Given the description of an element on the screen output the (x, y) to click on. 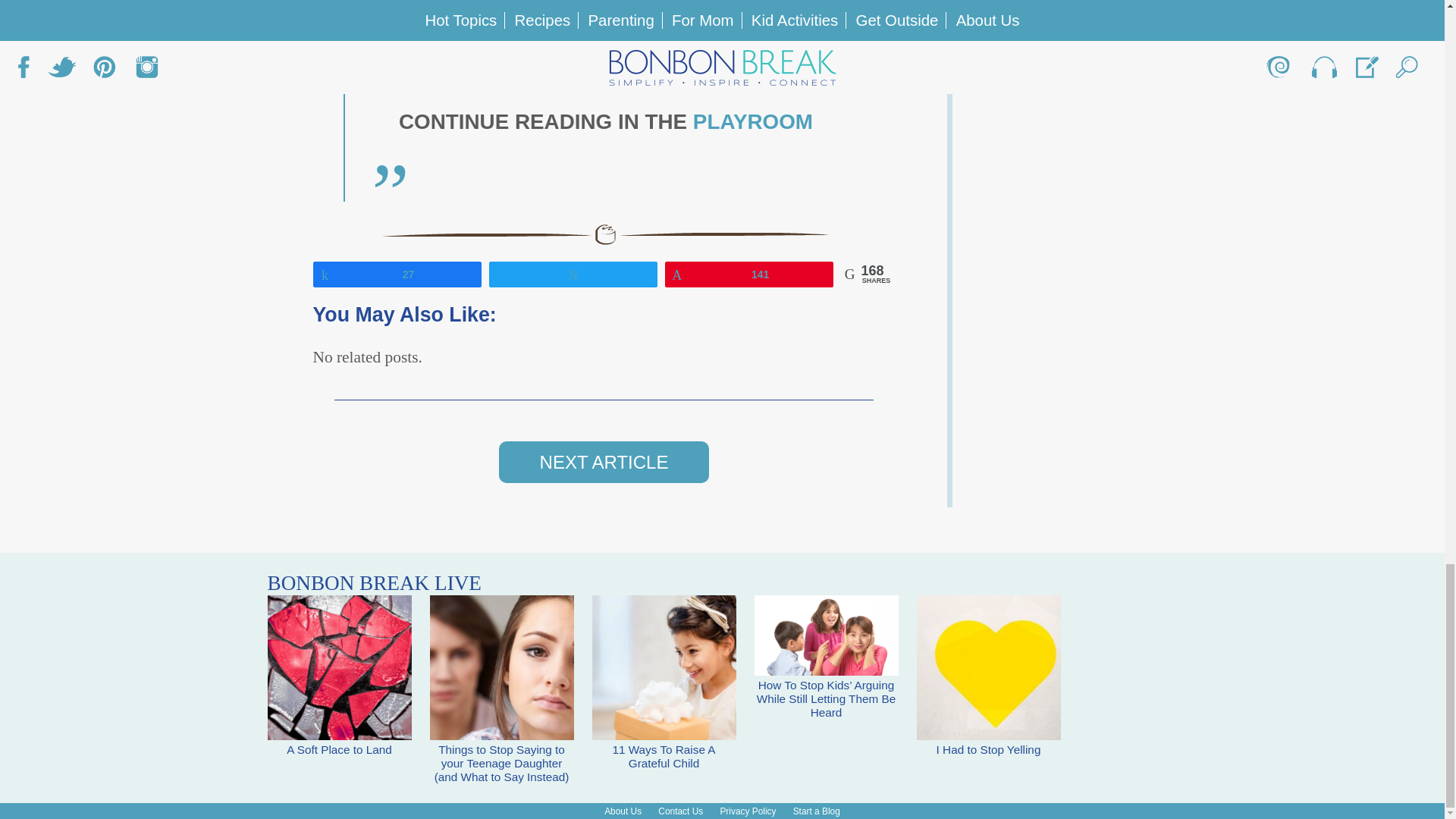
Twitter (662, 8)
divider (603, 233)
141 (748, 273)
27 (397, 273)
NEXT ARTICLE (604, 462)
PLAYROOM (752, 121)
Facebook (578, 8)
